Given the description of an element on the screen output the (x, y) to click on. 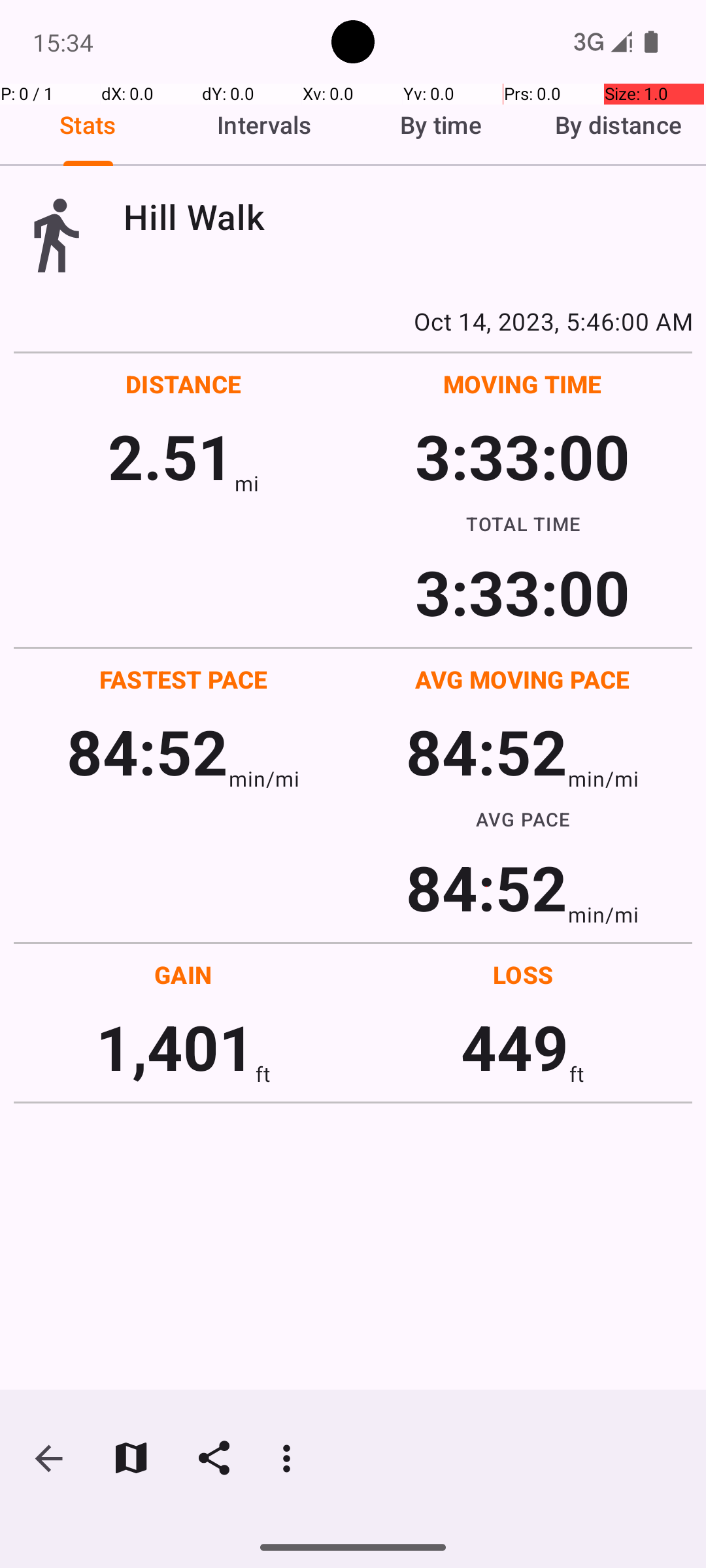
Hill Walk Element type: android.widget.TextView (407, 216)
Oct 14, 2023, 5:46:00 AM Element type: android.widget.TextView (352, 320)
DISTANCE Element type: android.widget.TextView (183, 383)
MOVING TIME Element type: android.widget.TextView (522, 383)
2.51 Element type: android.widget.TextView (170, 455)
mi Element type: android.widget.TextView (246, 483)
3:33:00 Element type: android.widget.TextView (522, 455)
TOTAL TIME Element type: android.widget.TextView (522, 523)
FASTEST PACE Element type: android.widget.TextView (183, 678)
AVG MOVING PACE Element type: android.widget.TextView (522, 678)
84:52 Element type: android.widget.TextView (147, 750)
min/mi Element type: android.widget.TextView (264, 778)
AVG PACE Element type: android.widget.TextView (522, 818)
GAIN Element type: android.widget.TextView (183, 974)
LOSS Element type: android.widget.TextView (522, 974)
1,401 Element type: android.widget.TextView (175, 1045)
ft Element type: android.widget.TextView (262, 1073)
449 Element type: android.widget.TextView (514, 1045)
